Given the description of an element on the screen output the (x, y) to click on. 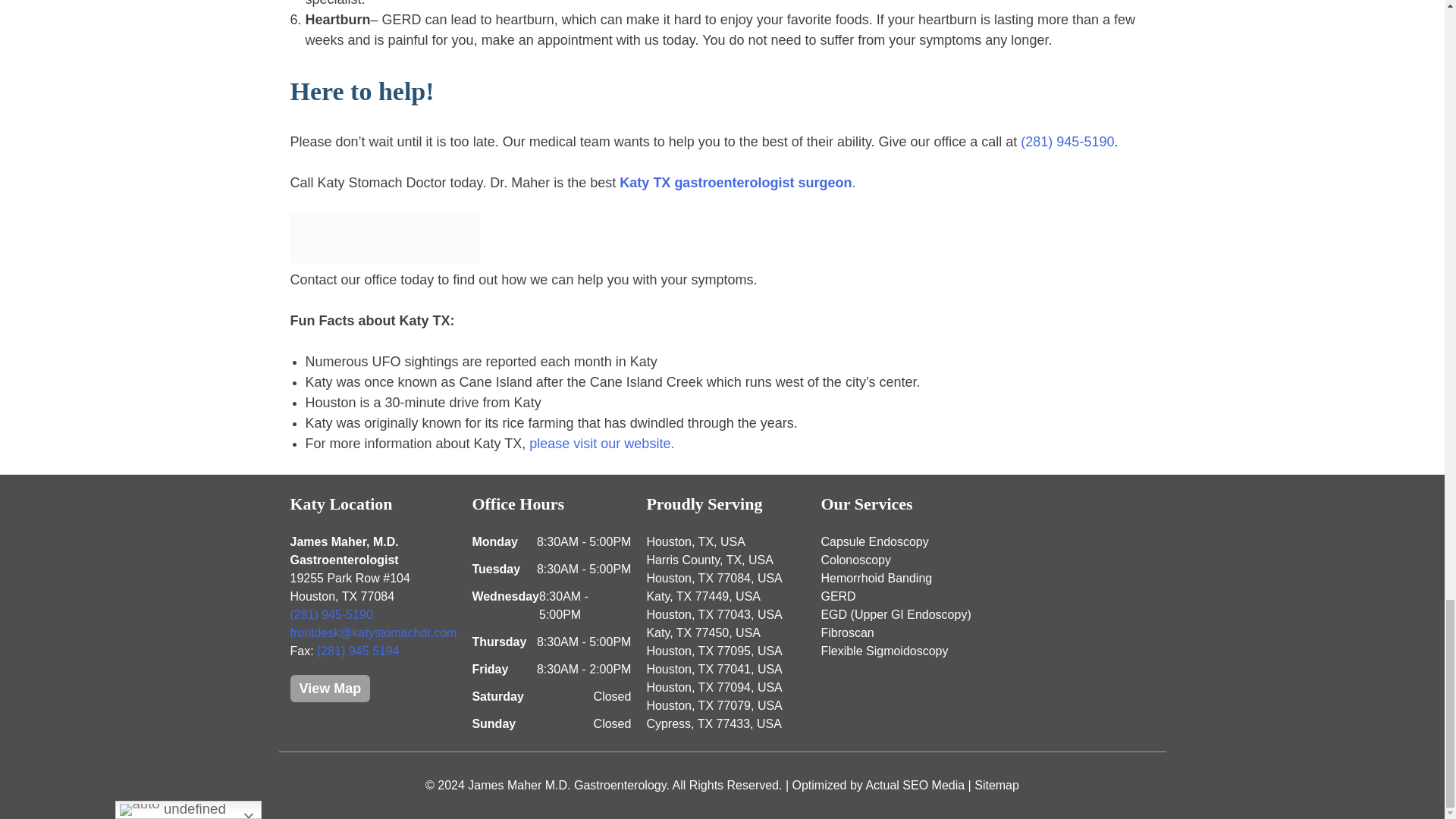
Actual SEO Media (913, 784)
Katy TX gastroenterologist surgeon.  (737, 182)
View Map (329, 687)
please visit our website. (601, 443)
James Maher M.D. Gastroenterology. (568, 784)
